Given the description of an element on the screen output the (x, y) to click on. 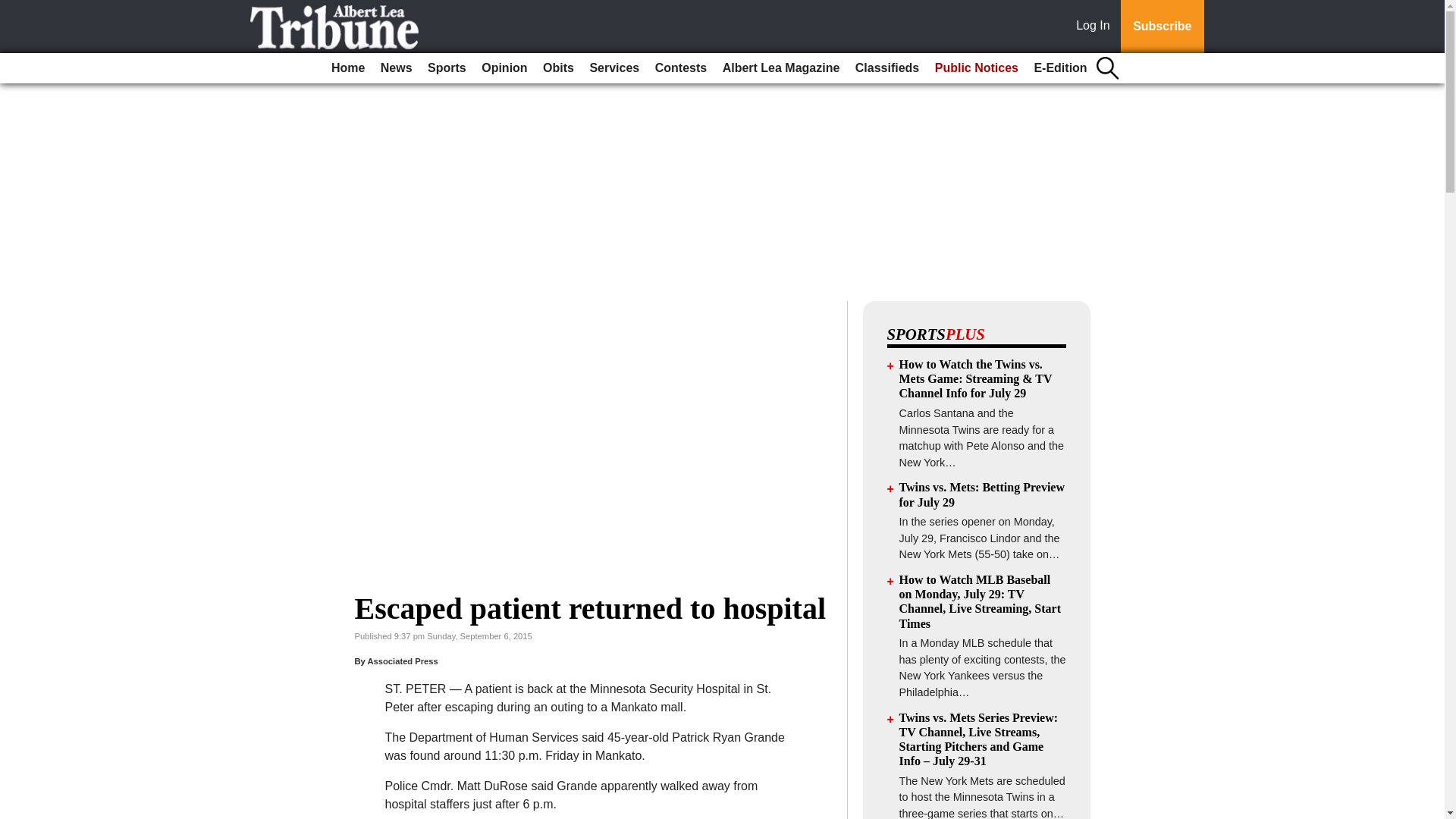
Subscribe (1162, 26)
Opinion (504, 68)
Home (347, 68)
Sports (446, 68)
Obits (558, 68)
Services (614, 68)
News (396, 68)
Log In (1095, 26)
